Given the description of an element on the screen output the (x, y) to click on. 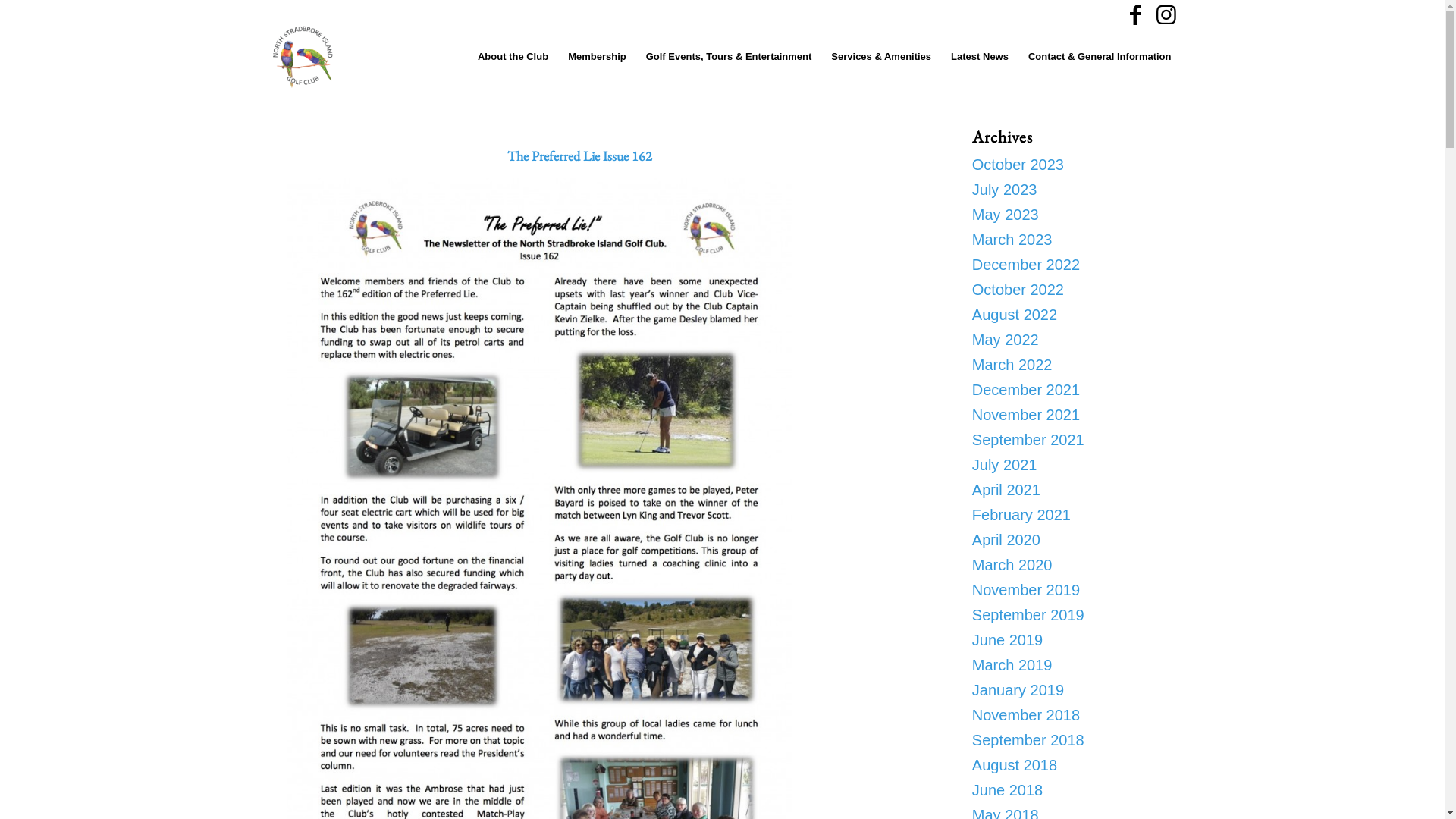
The Preferred Lie Issue 162 Element type: text (579, 155)
March 2022 Element type: text (1012, 364)
November 2021 Element type: text (1025, 414)
January 2019 Element type: text (1017, 689)
July 2021 Element type: text (1004, 464)
April 2020 Element type: text (1006, 539)
October 2023 Element type: text (1017, 164)
July 2023 Element type: text (1004, 189)
August 2022 Element type: text (1014, 314)
August 2018 Element type: text (1014, 764)
Membership Element type: text (597, 56)
June 2019 Element type: text (1007, 639)
March 2020 Element type: text (1012, 564)
June 2018 Element type: text (1007, 789)
October 2022 Element type: text (1017, 289)
February 2021 Element type: text (1021, 514)
December 2021 Element type: text (1025, 389)
Instagram Element type: hover (1166, 15)
December 2022 Element type: text (1025, 264)
November 2019 Element type: text (1025, 589)
September 2018 Element type: text (1028, 739)
March 2023 Element type: text (1012, 239)
About the Club Element type: text (512, 56)
September 2021 Element type: text (1028, 439)
Contact & General Information Element type: text (1099, 56)
September 2019 Element type: text (1028, 614)
Latest News Element type: text (979, 56)
Services & Amenities Element type: text (881, 56)
March 2019 Element type: text (1012, 664)
April 2021 Element type: text (1006, 489)
Golf Events, Tours & Entertainment Element type: text (729, 56)
November 2018 Element type: text (1025, 714)
Facebook Element type: hover (1135, 15)
May 2022 Element type: text (1005, 339)
May 2023 Element type: text (1005, 214)
